Given the description of an element on the screen output the (x, y) to click on. 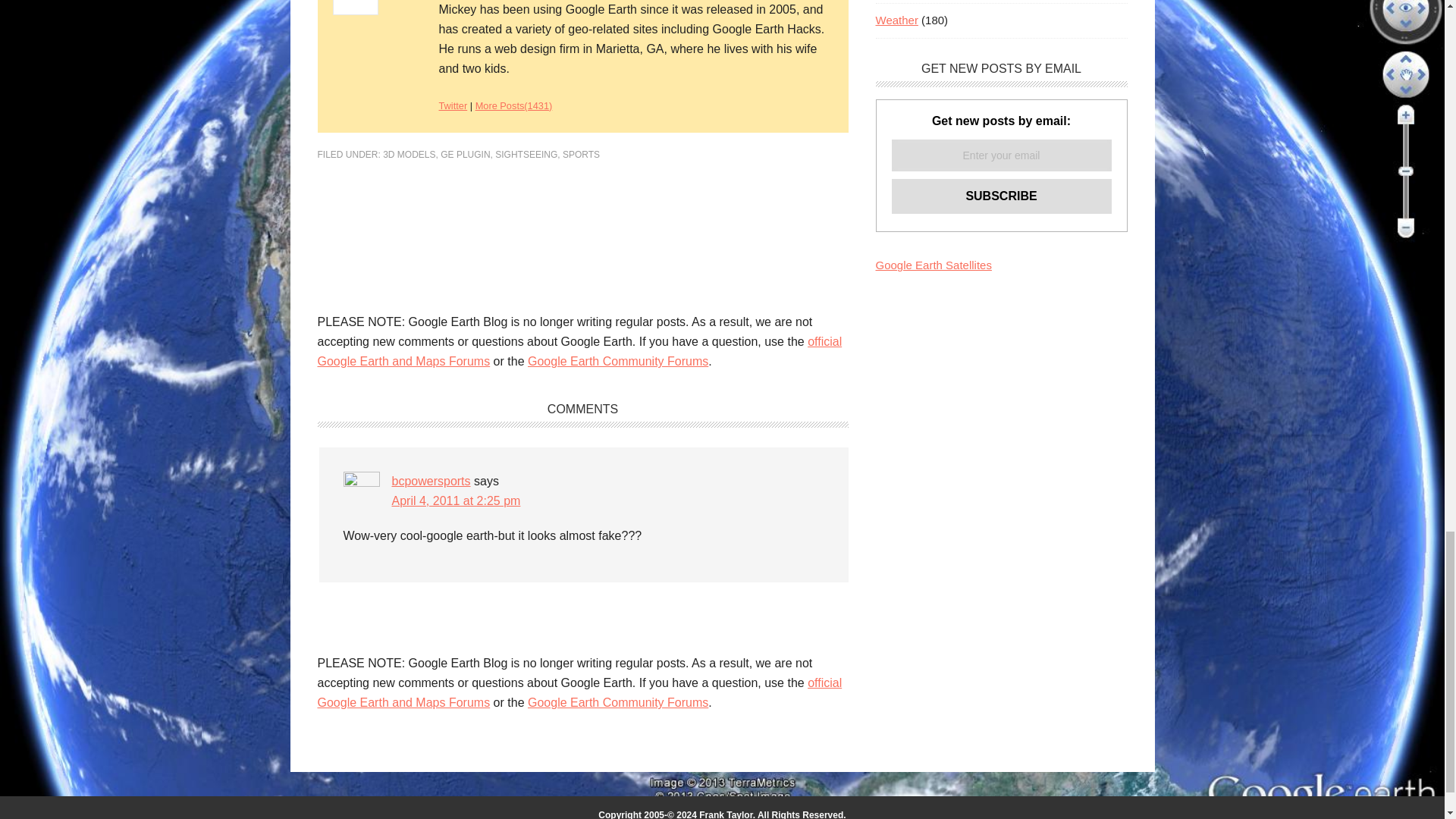
April 4, 2011 at 2:25 pm (455, 500)
bcpowersports (430, 481)
official Google Earth and Maps Forums (579, 350)
More Posts By Mickey Mellen (514, 105)
Subscribe (1001, 196)
official Google Earth and Maps Forums (579, 692)
SPORTS (580, 154)
GE PLUGIN (465, 154)
Twitter (452, 105)
3D MODELS (408, 154)
SIGHTSEEING (526, 154)
Google Earth Community Forums (617, 360)
Mickey Mellen On Twitter (452, 105)
Google Earth Community Forums (617, 702)
